Given the description of an element on the screen output the (x, y) to click on. 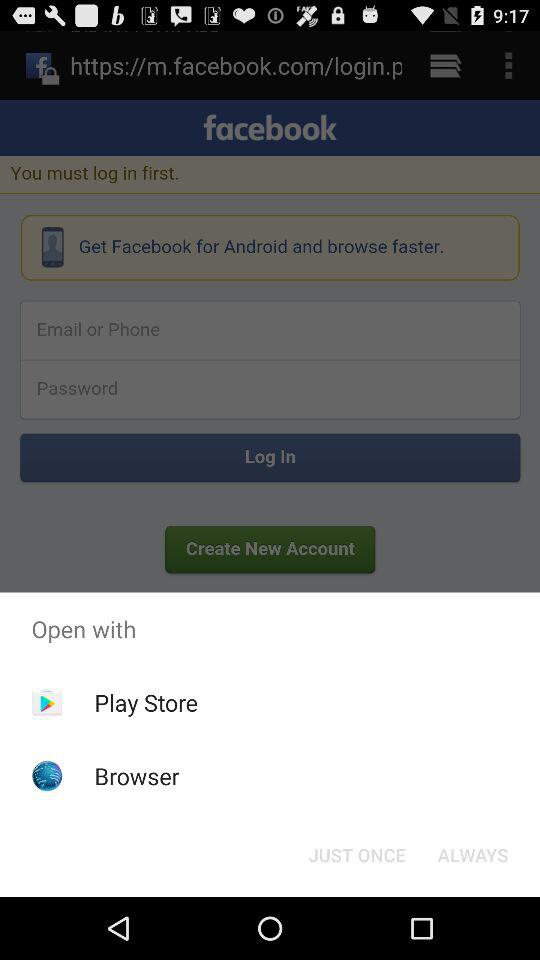
open the always at the bottom right corner (472, 854)
